Given the description of an element on the screen output the (x, y) to click on. 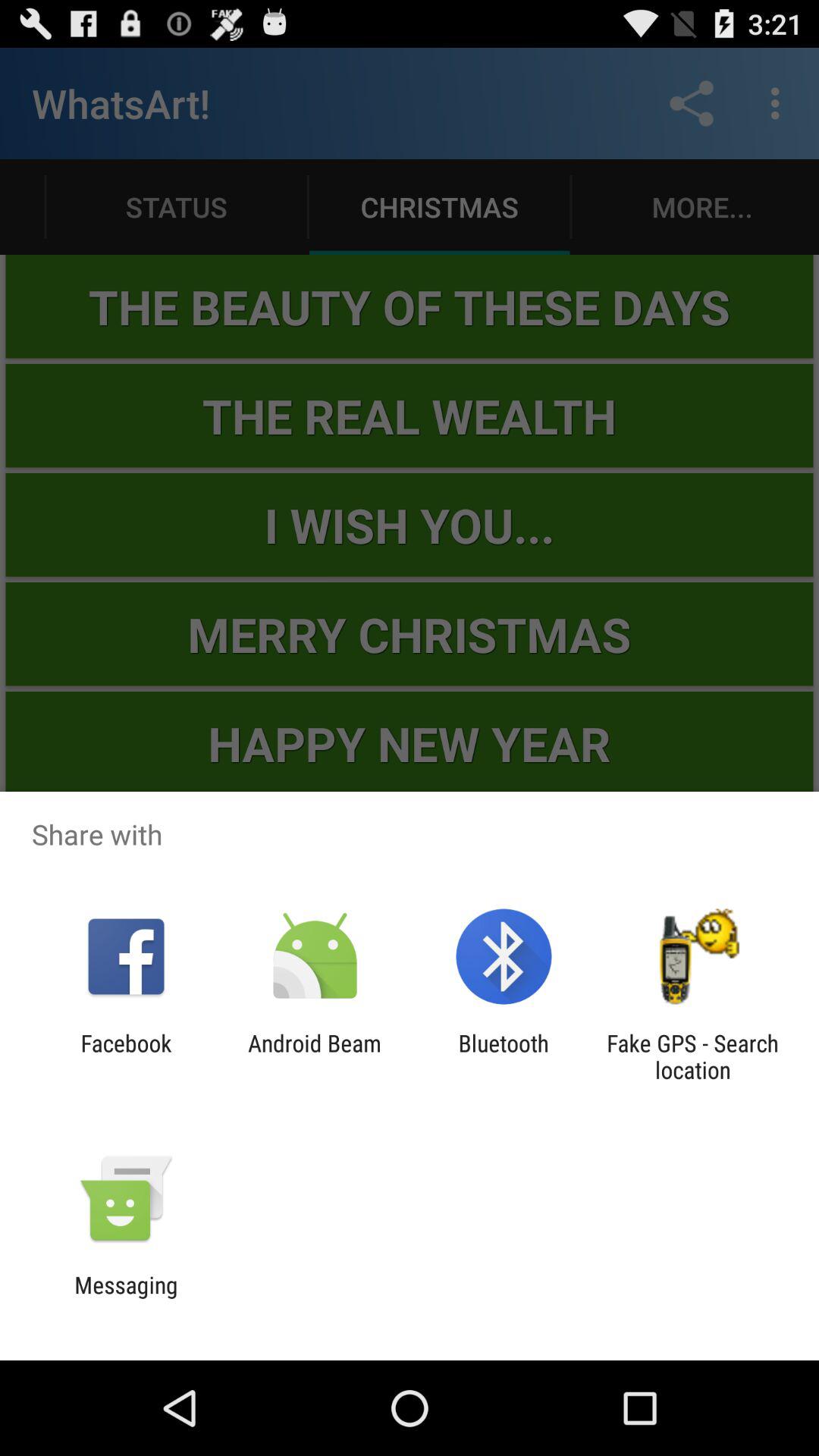
flip until fake gps search app (692, 1056)
